Given the description of an element on the screen output the (x, y) to click on. 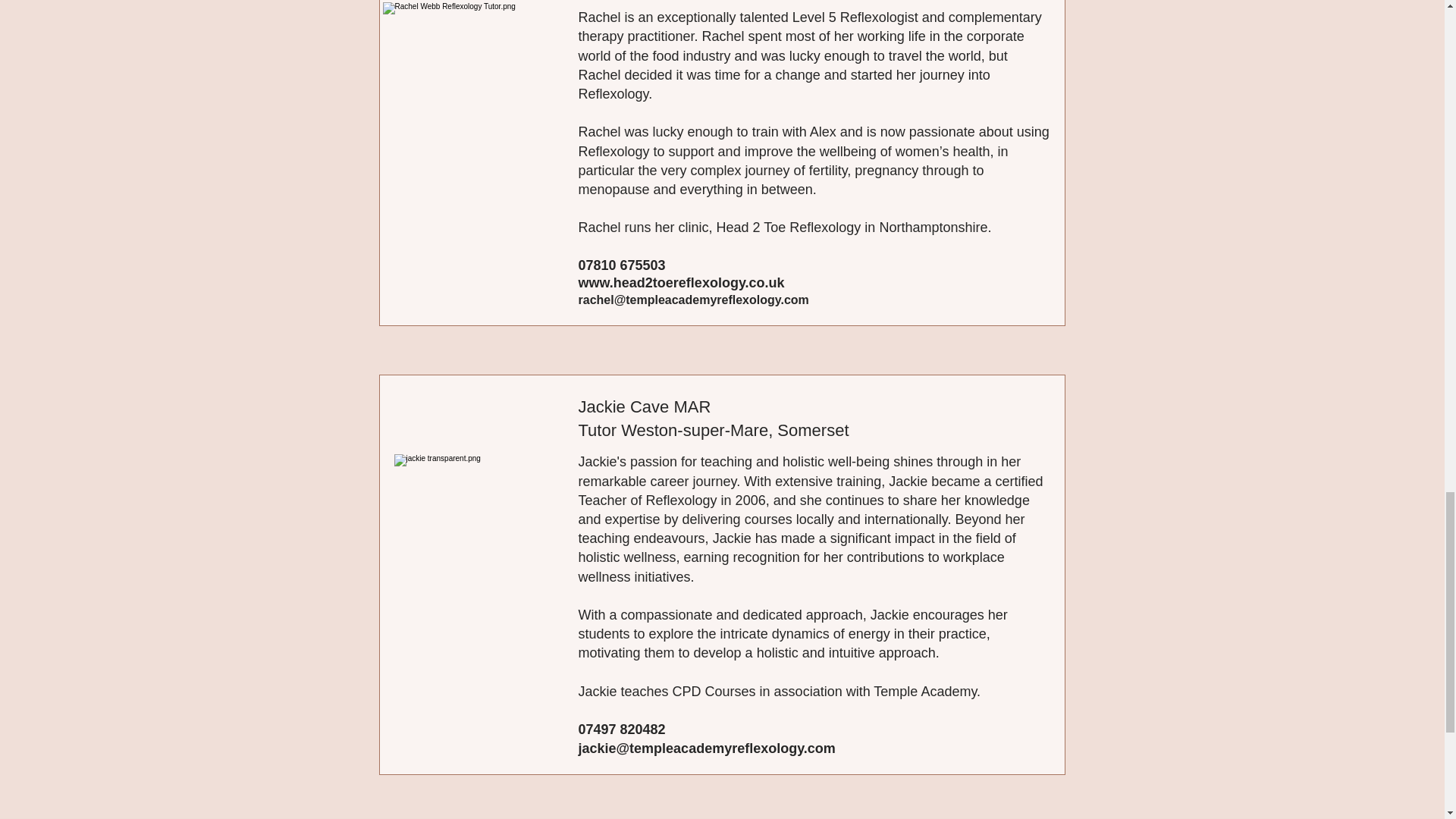
Jan Kleiner-Mann (476, 91)
Jan Kleiner-Mann (479, 547)
07810 675503 (621, 264)
www.head2toereflexology.co.uk (681, 282)
07497 820482 (621, 729)
